Given the description of an element on the screen output the (x, y) to click on. 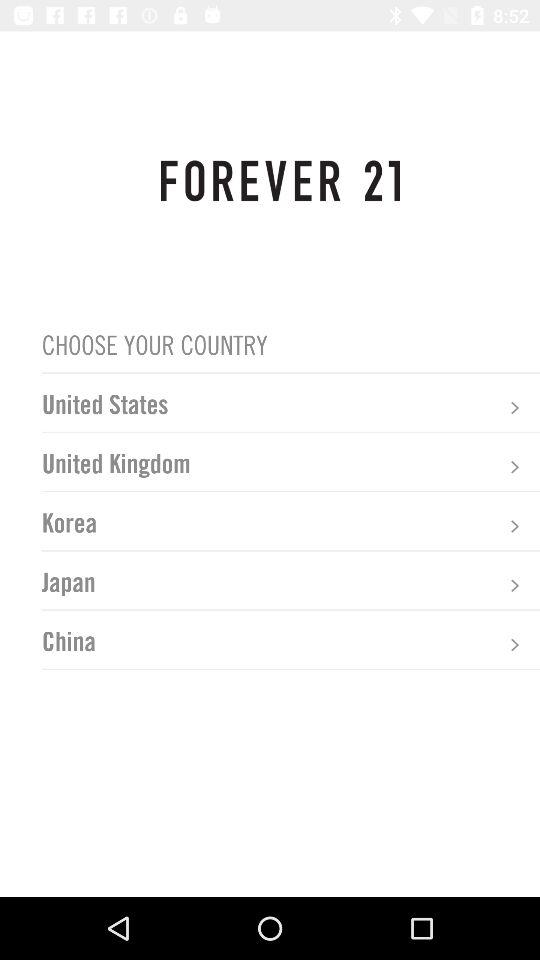
click on forever 21 (280, 180)
side arrow icon right to japan (514, 585)
click right arrow right to korea (514, 526)
click on the next button which is beside text united kingdom (514, 467)
